Given the description of an element on the screen output the (x, y) to click on. 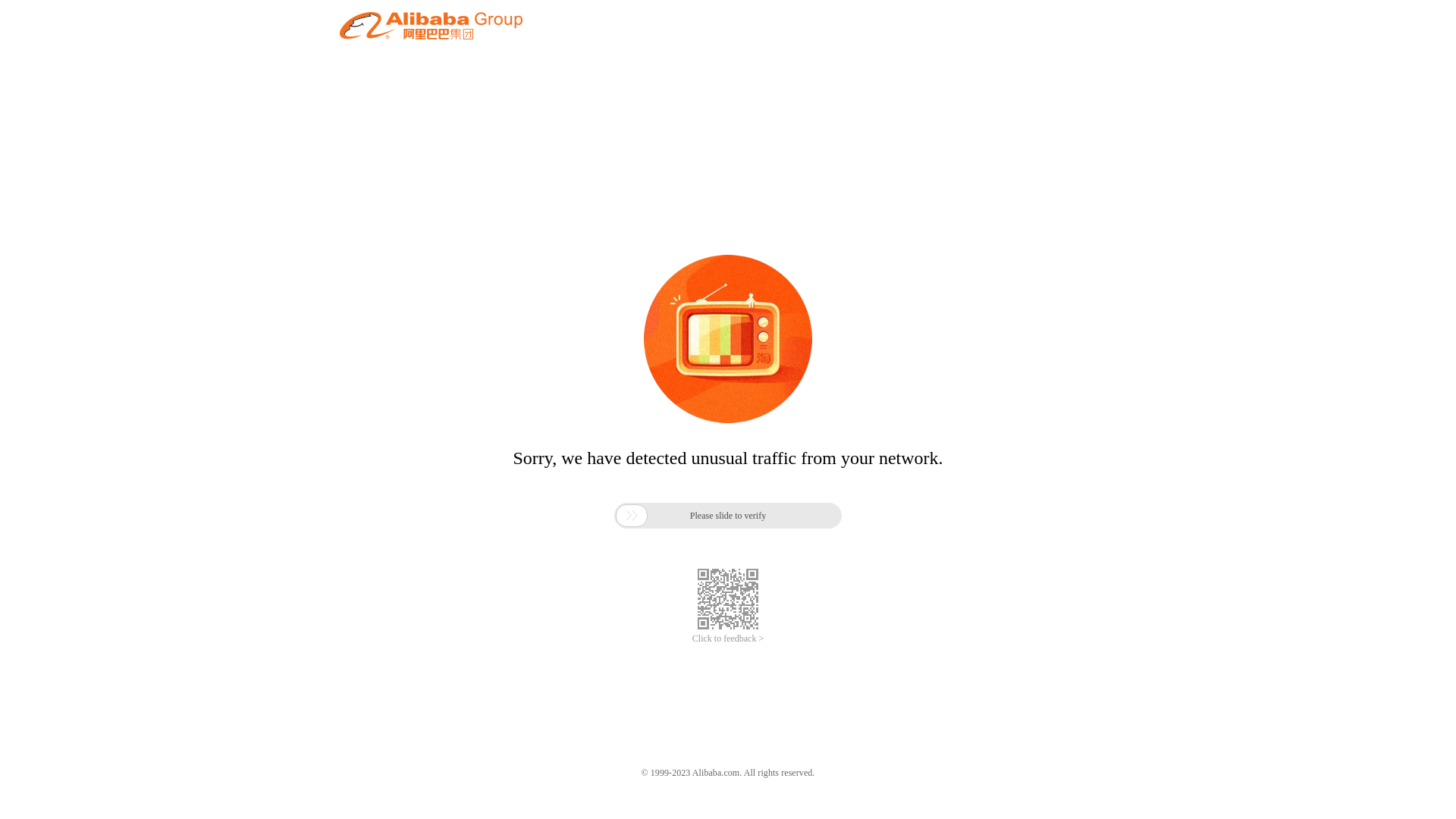
Click to feedback > Element type: text (727, 638)
